Given the description of an element on the screen output the (x, y) to click on. 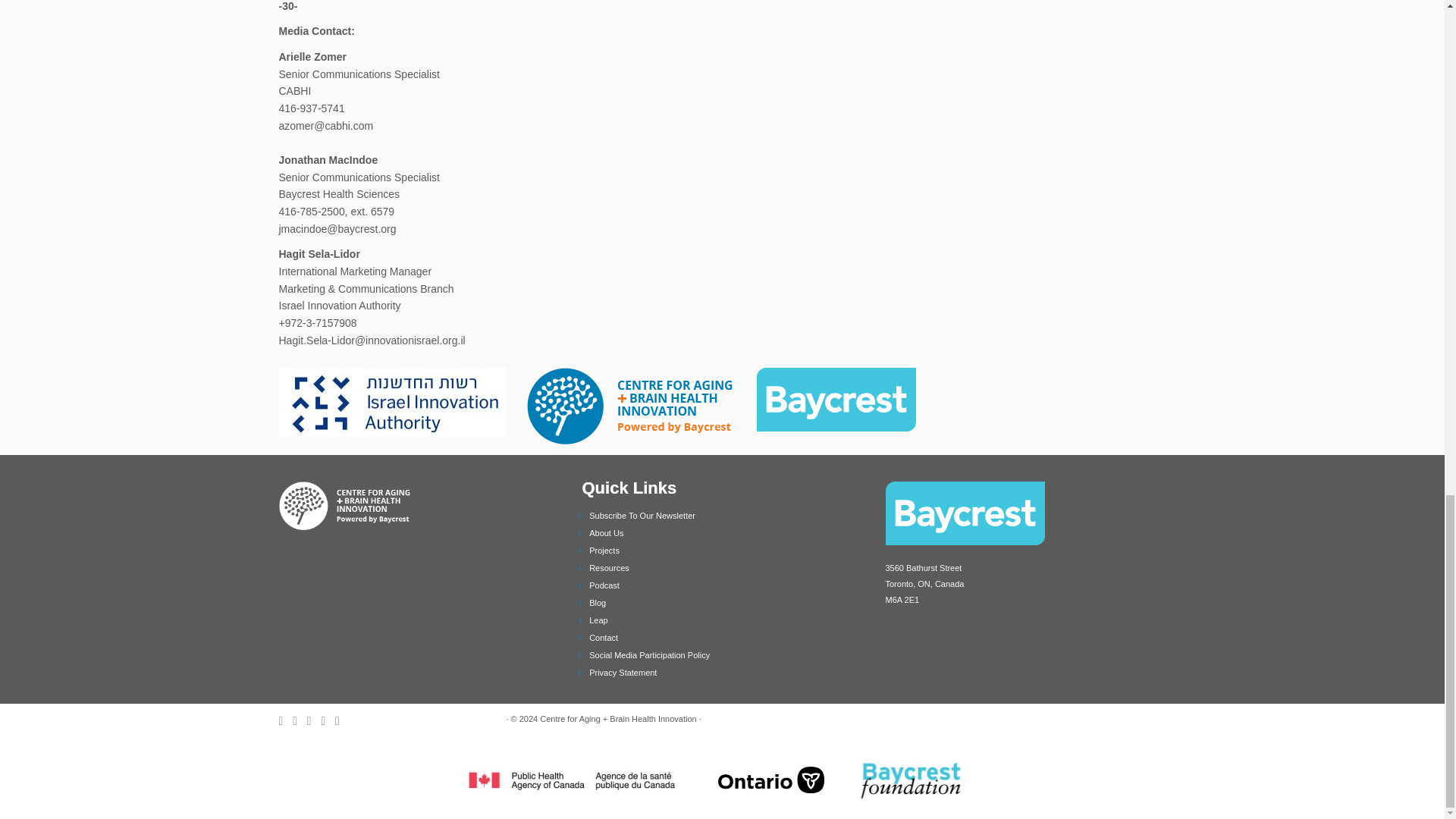
E-mail (286, 720)
Follow me on Twitter (299, 720)
Follow me on Facebook (314, 720)
Follow me on LinkedIn (327, 720)
Follow us on Instagram (341, 720)
